Given the description of an element on the screen output the (x, y) to click on. 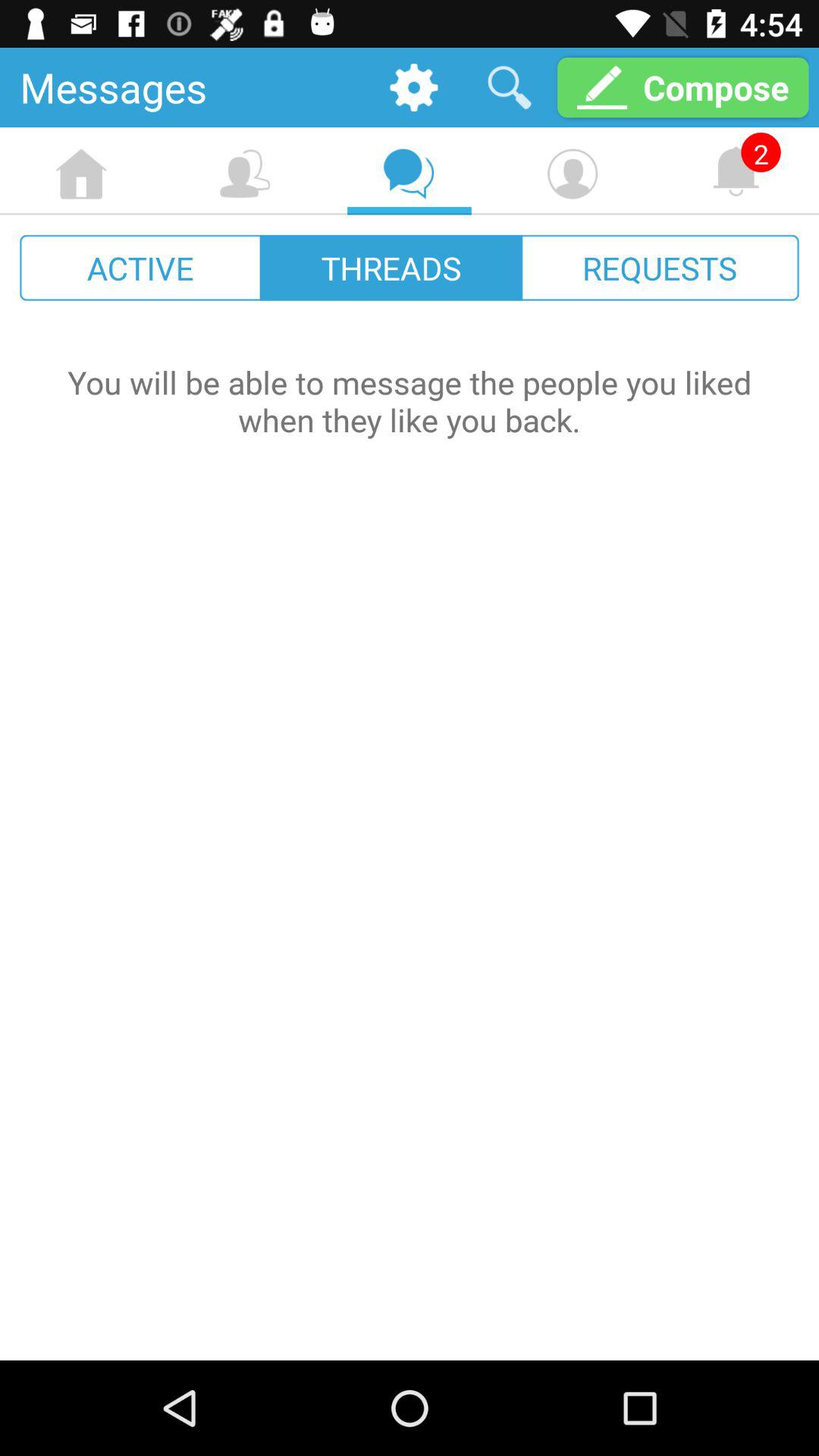
turn off icon to the right of the active icon (390, 267)
